Given the description of an element on the screen output the (x, y) to click on. 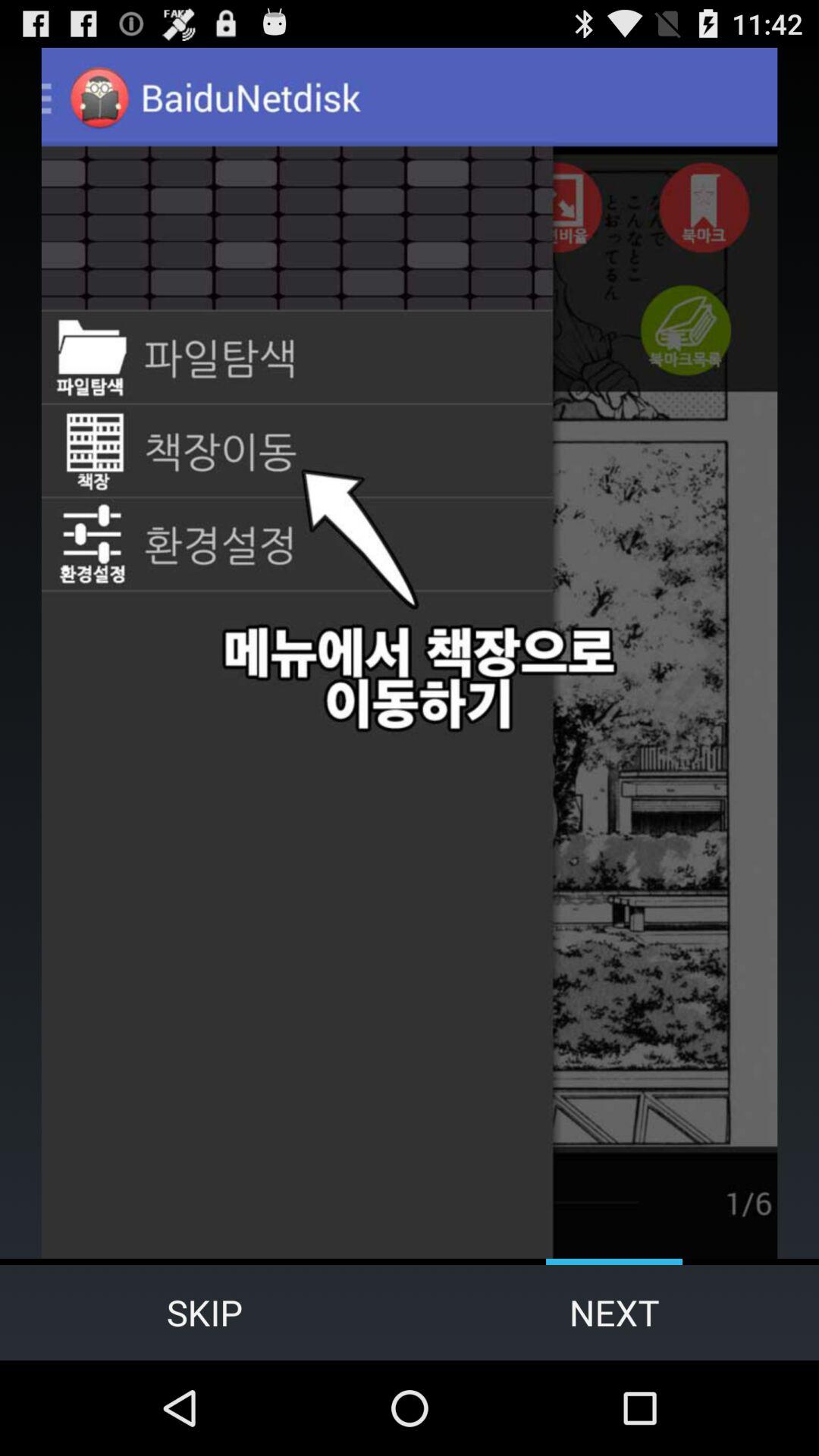
turn off the button next to the next icon (204, 1312)
